Given the description of an element on the screen output the (x, y) to click on. 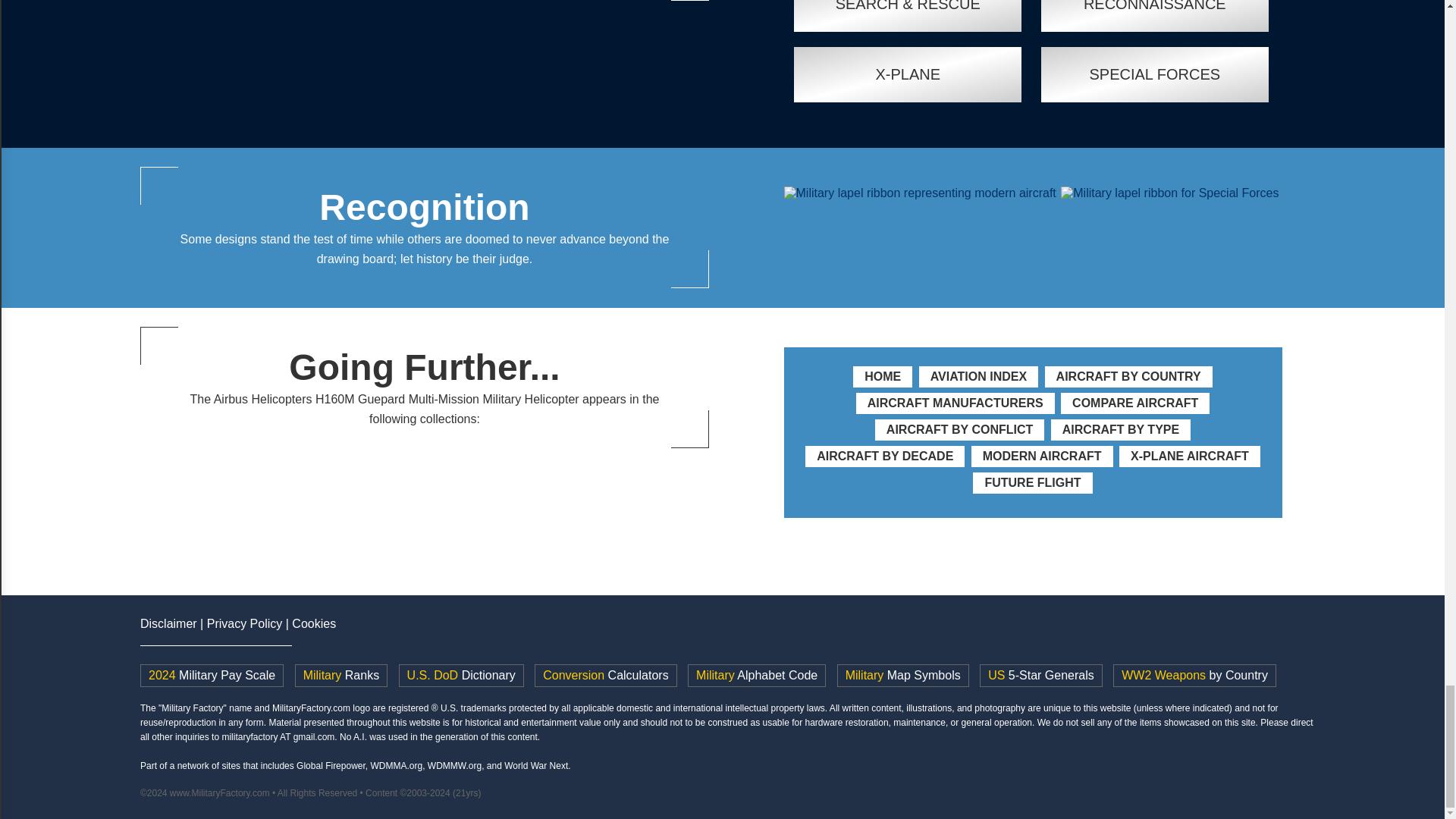
AIRCRAFT BY COUNTRY (1128, 376)
HOME (882, 376)
AIRCRAFT BY CONFLICT (959, 429)
Cookies (314, 623)
Disclaimer (167, 623)
AVIATION INDEX (978, 376)
MODERN AIRCRAFT (1042, 455)
COMPARE AIRCRAFT (1135, 402)
Privacy Policy (244, 623)
FUTURE FLIGHT (1032, 481)
AIRCRAFT MANUFACTURERS (955, 402)
X-PLANE AIRCRAFT (1190, 455)
AIRCRAFT BY DECADE (884, 455)
AIRCRAFT BY TYPE (1120, 429)
